Given the description of an element on the screen output the (x, y) to click on. 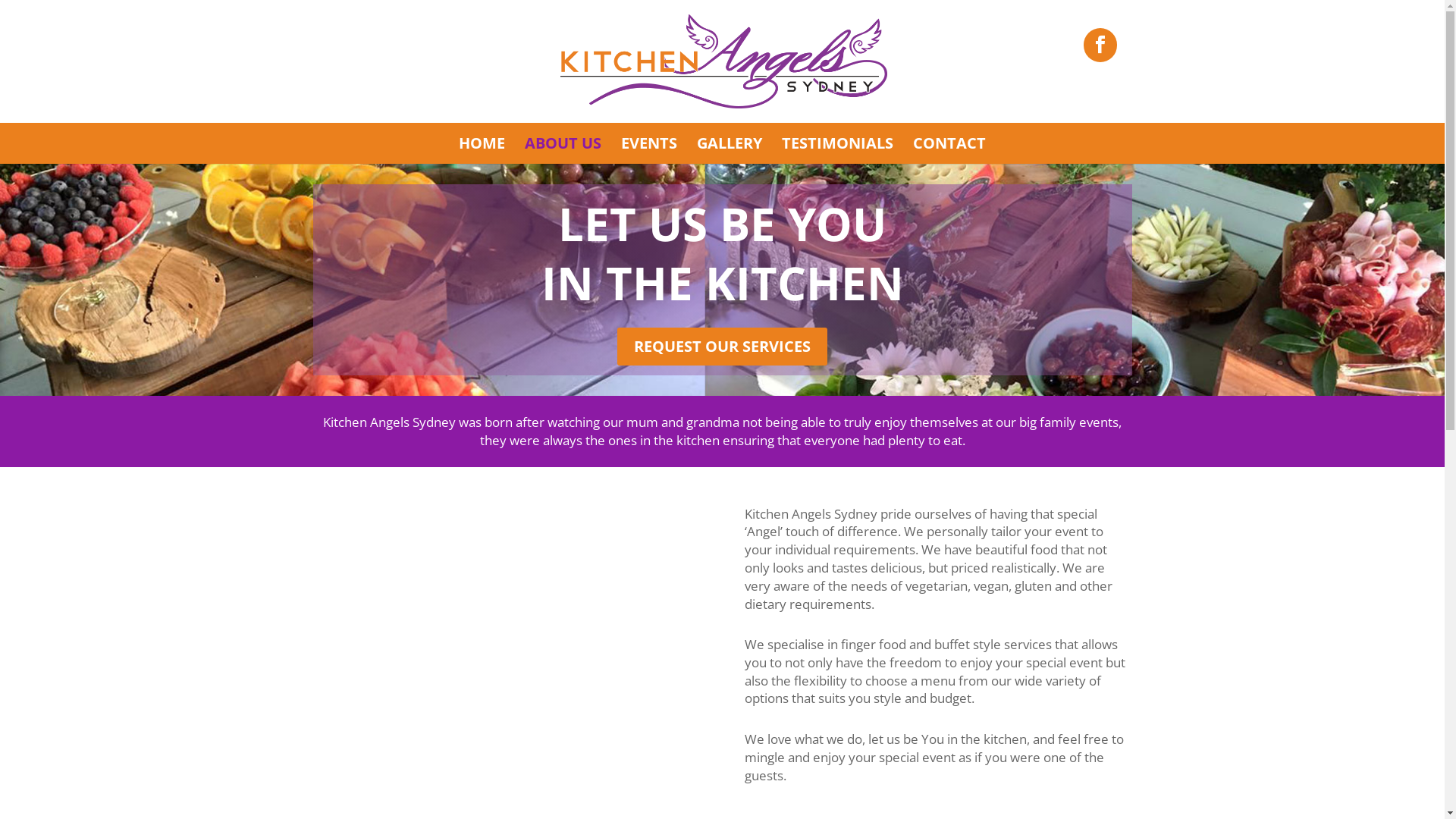
REQUEST OUR SERVICES Element type: text (722, 346)
TESTIMONIALS Element type: text (837, 150)
CONTACT Element type: text (949, 150)
ABOUT US Element type: text (562, 150)
EVENTS Element type: text (649, 150)
HOME Element type: text (481, 150)
GALLERY Element type: text (729, 150)
